Given the description of an element on the screen output the (x, y) to click on. 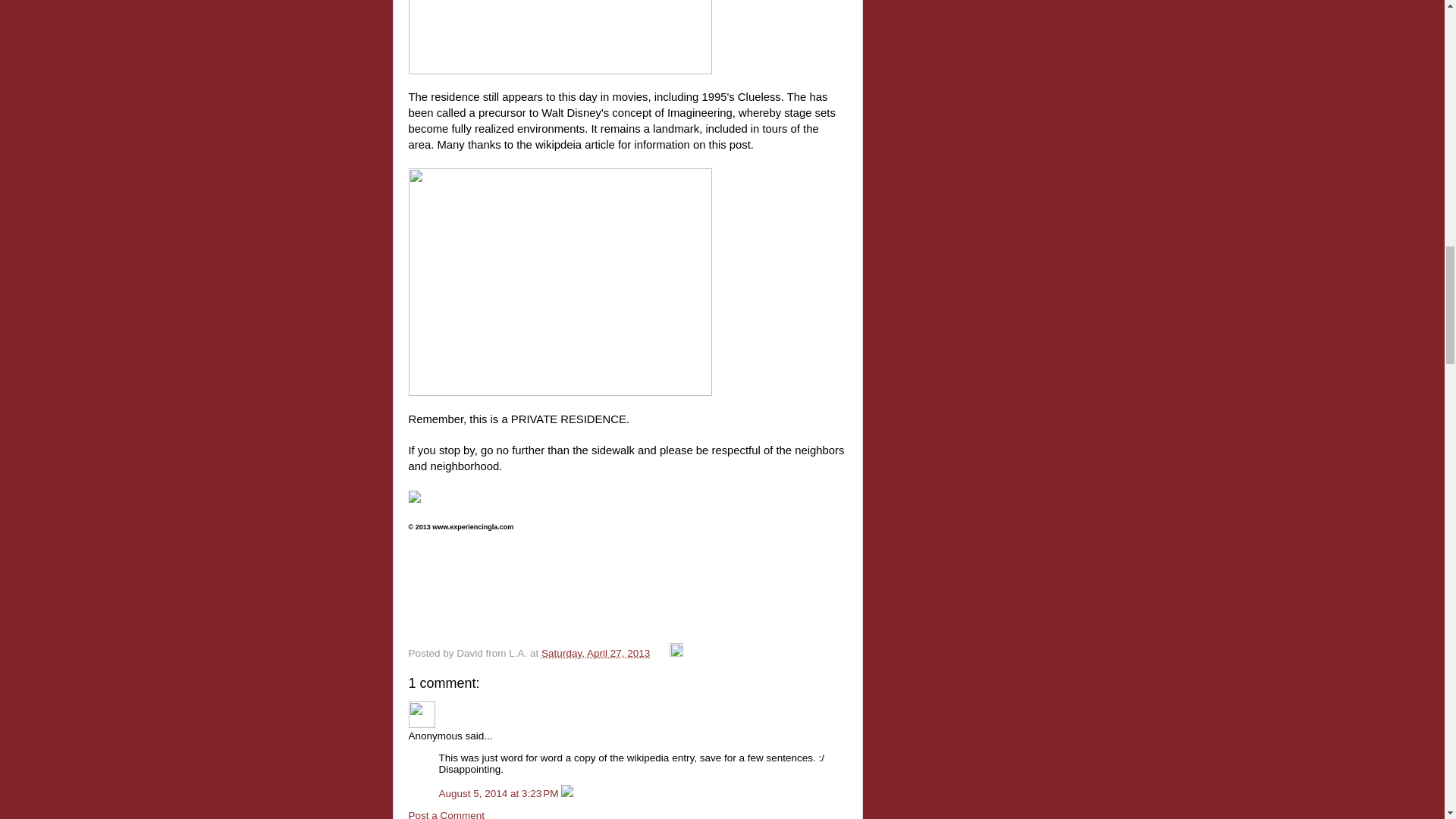
Saturday, April 27, 2013 (595, 653)
Email Post (660, 653)
permanent link (595, 653)
Post a Comment (445, 814)
Anonymous (420, 714)
Edit Post (675, 653)
comment permalink (499, 793)
Delete Comment (566, 793)
